Given the description of an element on the screen output the (x, y) to click on. 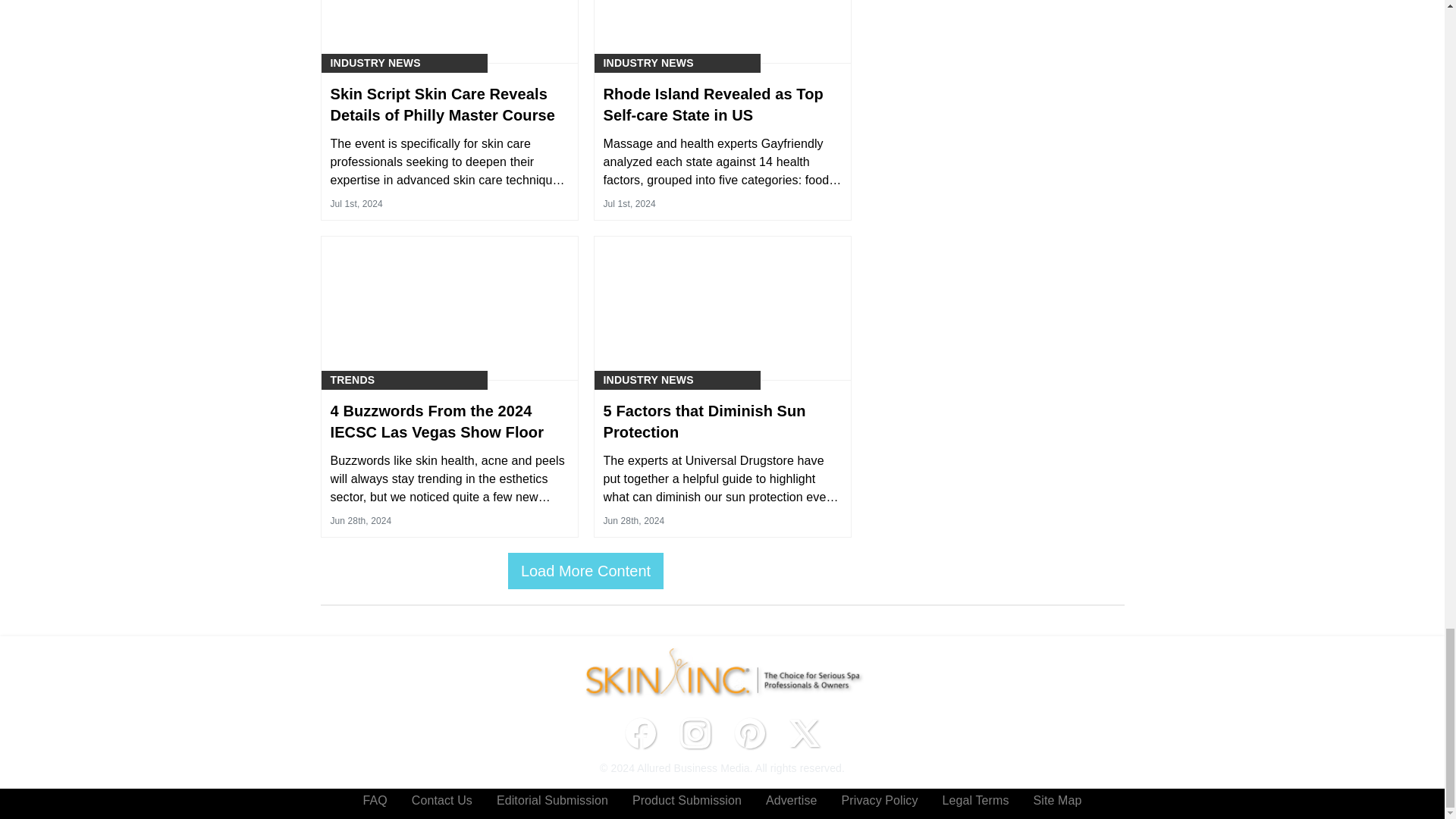
Instagram icon (694, 733)
Pinterest icon (748, 733)
Facebook icon (639, 733)
Twitter X icon (803, 733)
